Given the description of an element on the screen output the (x, y) to click on. 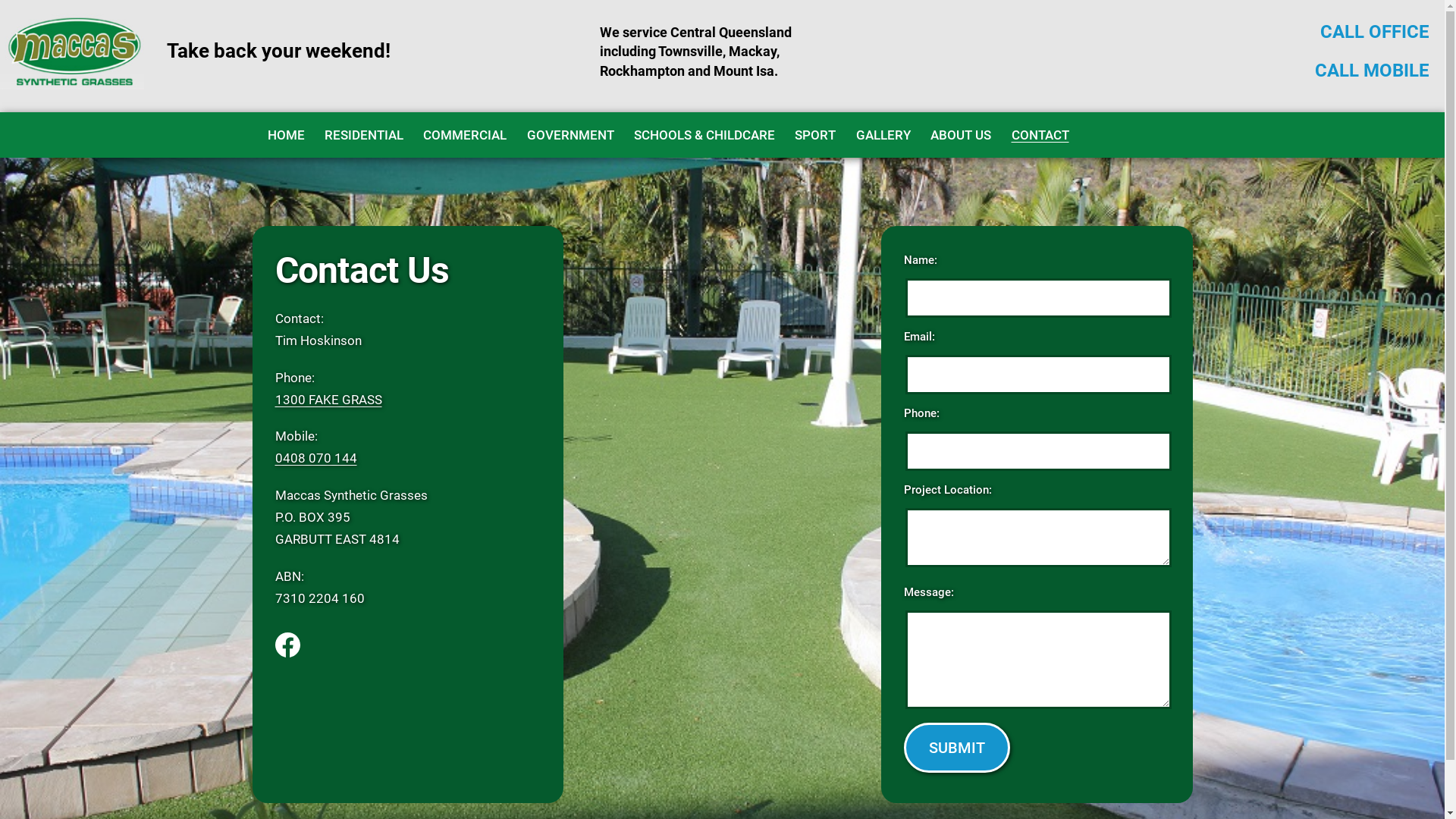
CALL OFFICE Element type: text (1374, 31)
GOVERNMENT Element type: text (569, 134)
SCHOOLS & CHILDCARE Element type: text (704, 134)
Submit Element type: text (956, 747)
COMMERCIAL Element type: text (464, 134)
ABOUT US Element type: text (960, 134)
1300 FAKE GRASS Element type: text (327, 399)
SPORT Element type: text (814, 134)
RESIDENTIAL Element type: text (363, 134)
CONTACT Element type: text (1039, 134)
0408 070 144 Element type: text (315, 457)
HOME Element type: text (285, 134)
GALLERY Element type: text (883, 134)
CALL MOBILE Element type: text (1371, 70)
